Given the description of an element on the screen output the (x, y) to click on. 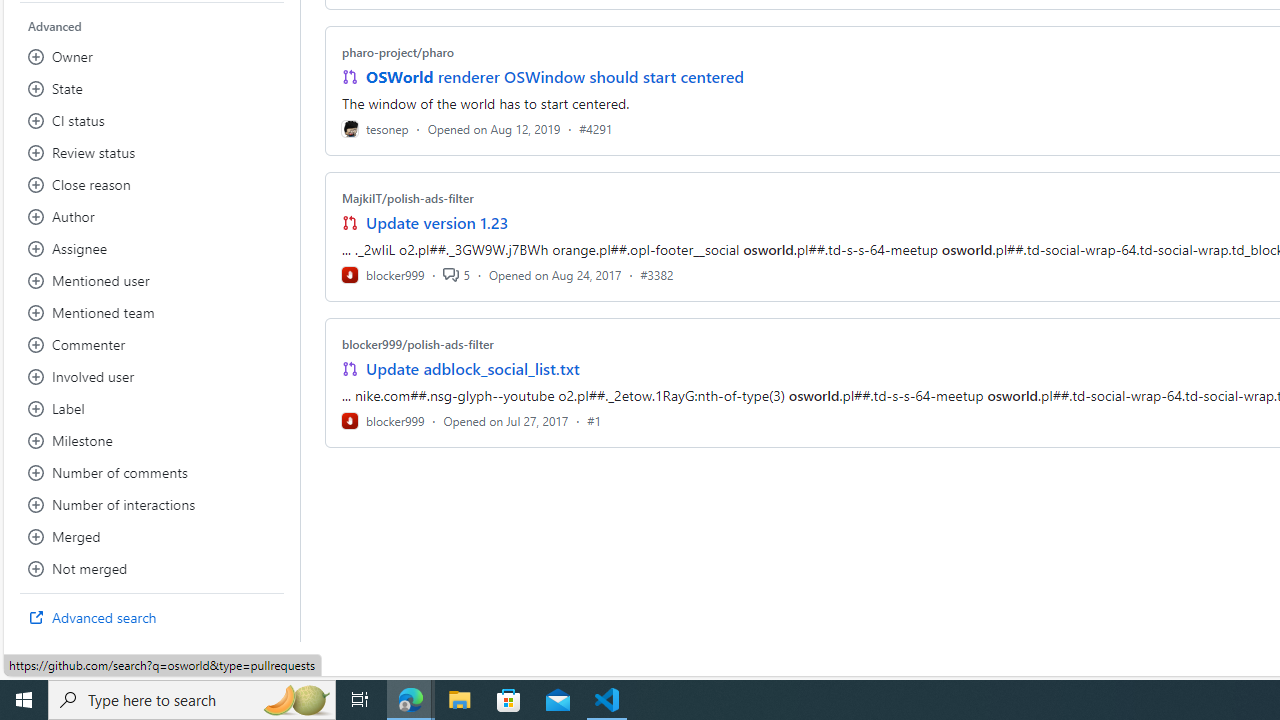
Update version 1.23 (437, 222)
Advanced search (152, 617)
